Given the description of an element on the screen output the (x, y) to click on. 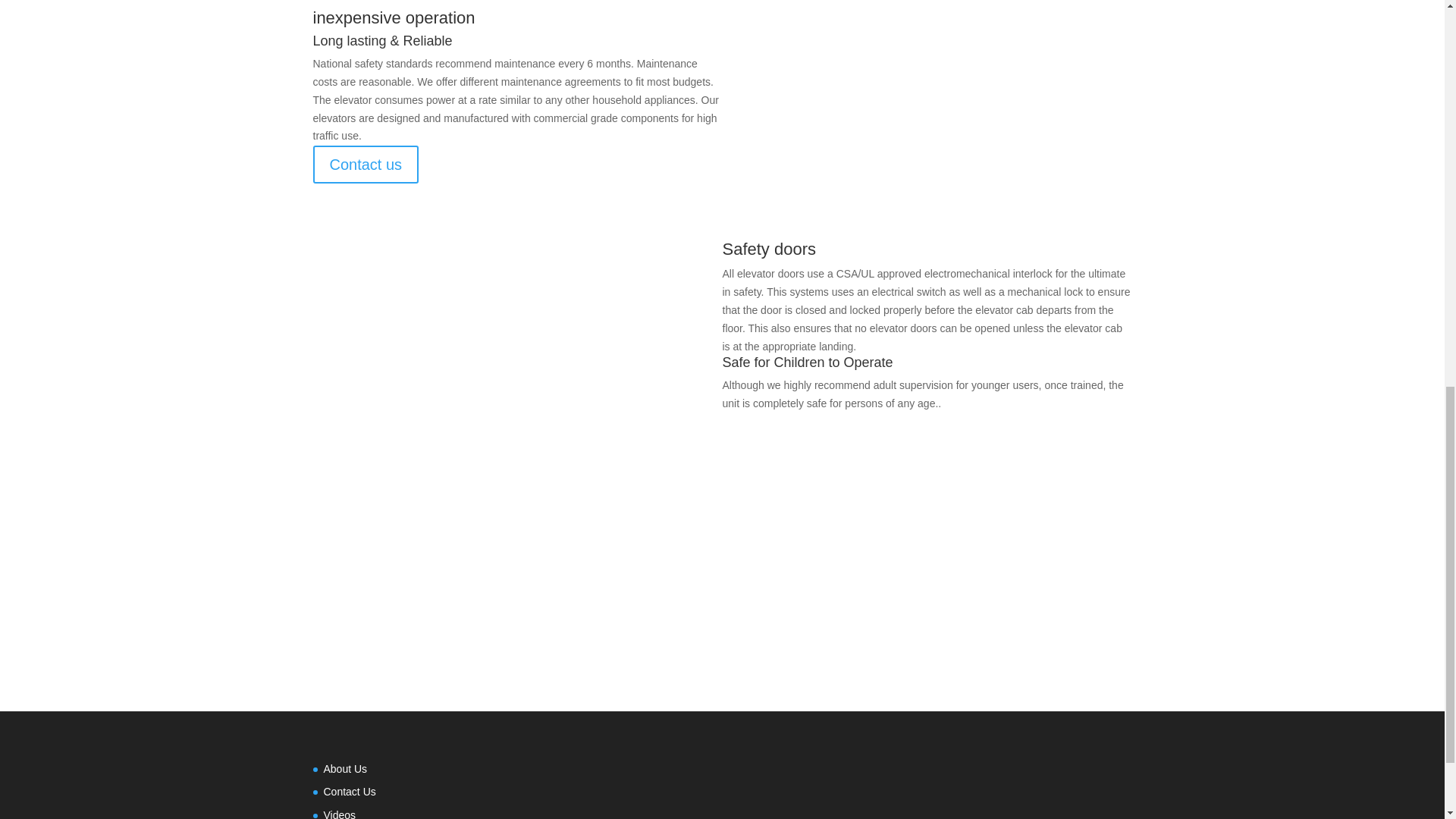
Contact Us (349, 791)
Citations (722, 605)
Videos (339, 814)
About Us (344, 768)
Contact us (366, 164)
